Given the description of an element on the screen output the (x, y) to click on. 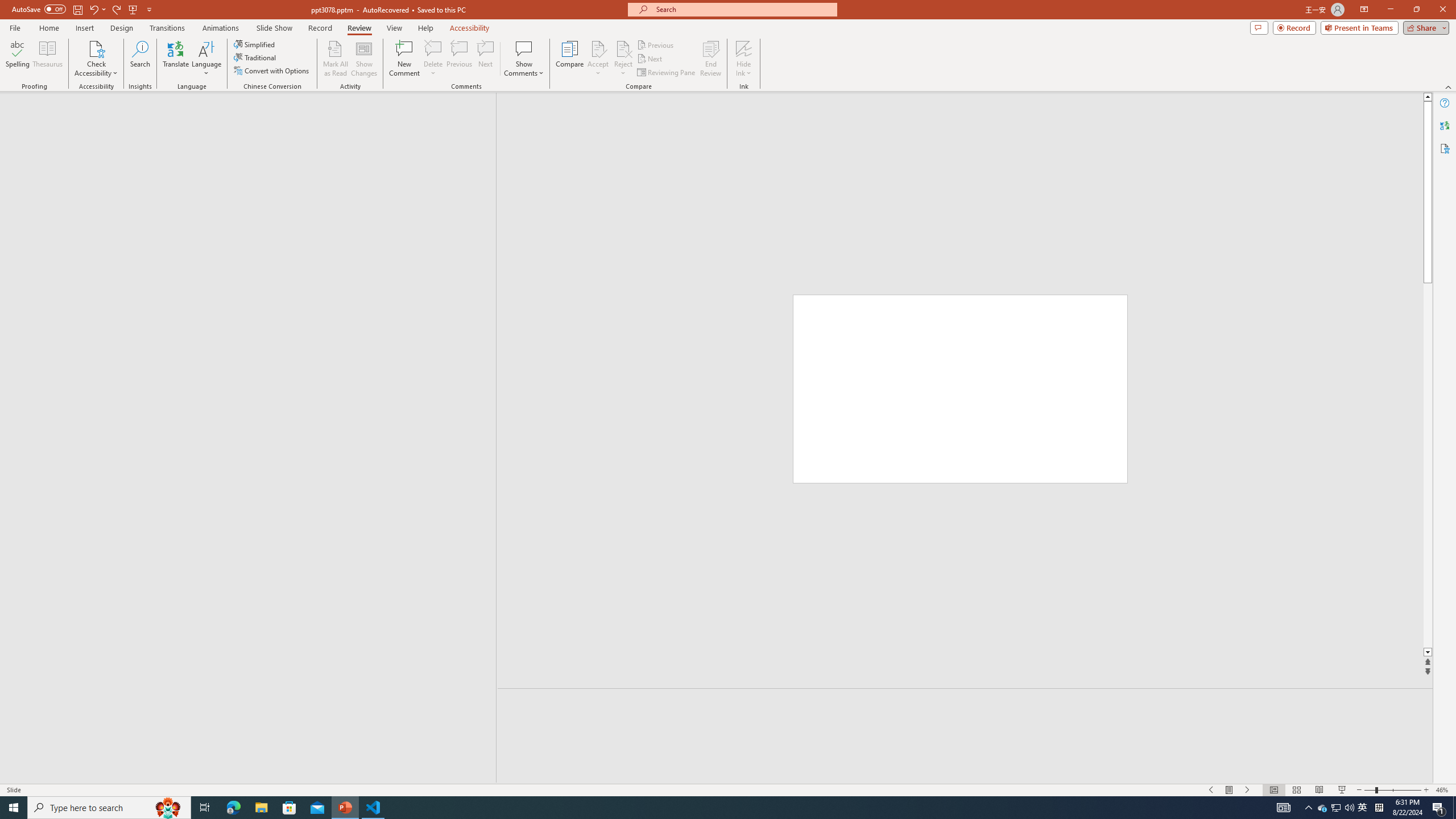
Mark All as Read (335, 58)
Next (649, 58)
Show Comments (524, 48)
Accept Change (598, 48)
Reviewing Pane (666, 72)
New Comment (403, 58)
